Given the description of an element on the screen output the (x, y) to click on. 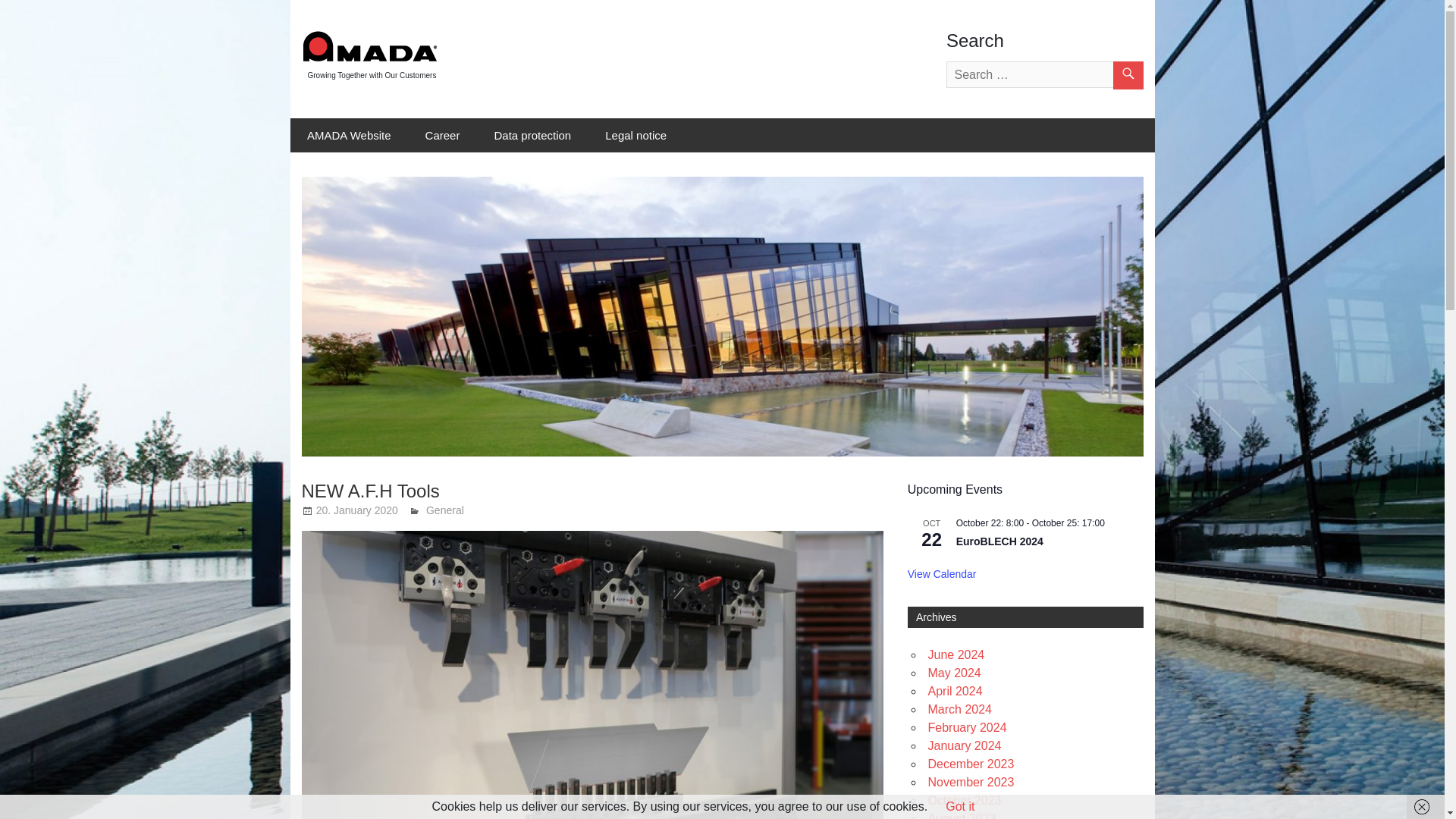
November 2023 (971, 781)
January 2024 (964, 745)
General (445, 510)
View Calendar (941, 574)
Legal notice (636, 134)
October 2023 (964, 799)
December 2023 (971, 763)
EuroBLECH 2024 (999, 541)
Search for: (1044, 74)
April 2024 (955, 690)
Data protection (532, 134)
February 2024 (967, 727)
9:13 (356, 510)
EuroBLECH 2024 (999, 541)
AMADA Website (348, 134)
